Given the description of an element on the screen output the (x, y) to click on. 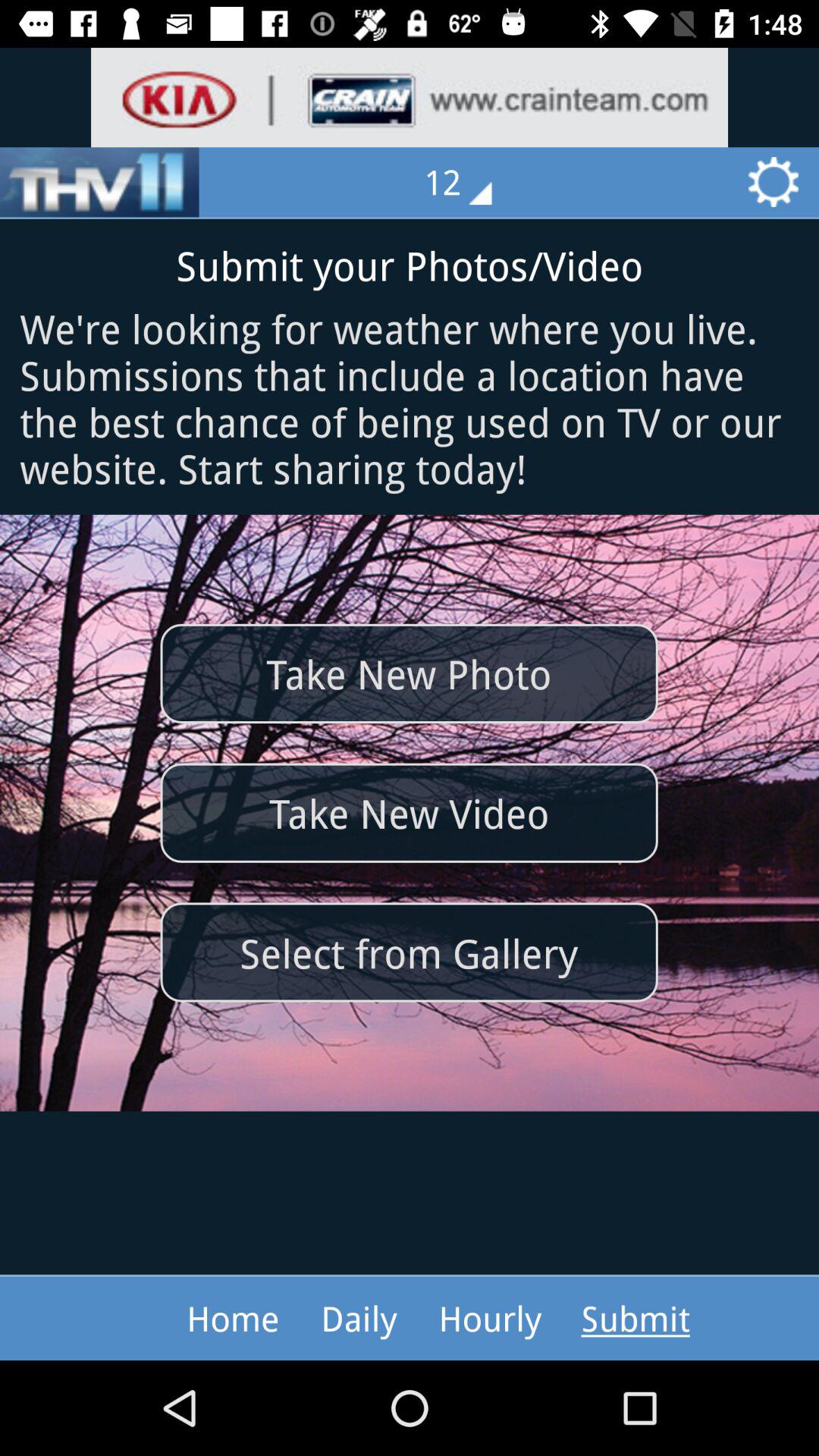
tap select from gallery item (409, 952)
